Given the description of an element on the screen output the (x, y) to click on. 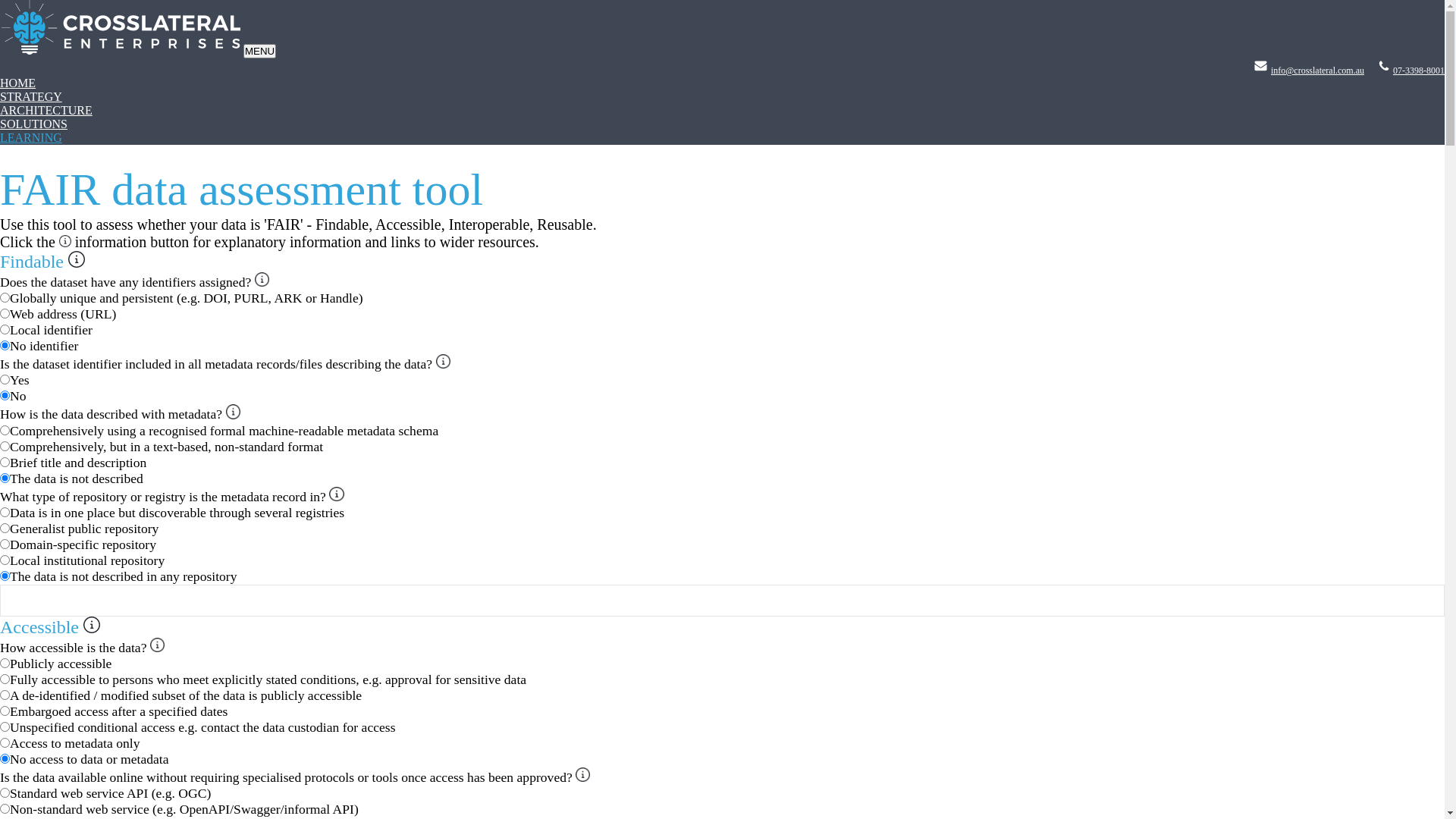
STRATEGY Element type: text (31, 96)
LEARNING Element type: text (31, 137)
ARCHITECTURE Element type: text (46, 109)
07-3398-8001 Element type: text (1418, 70)
HOME Element type: text (17, 82)
info@crosslateral.com.au Element type: text (1317, 70)
SOLUTIONS Element type: text (33, 123)
MENU Element type: text (259, 50)
